Given the description of an element on the screen output the (x, y) to click on. 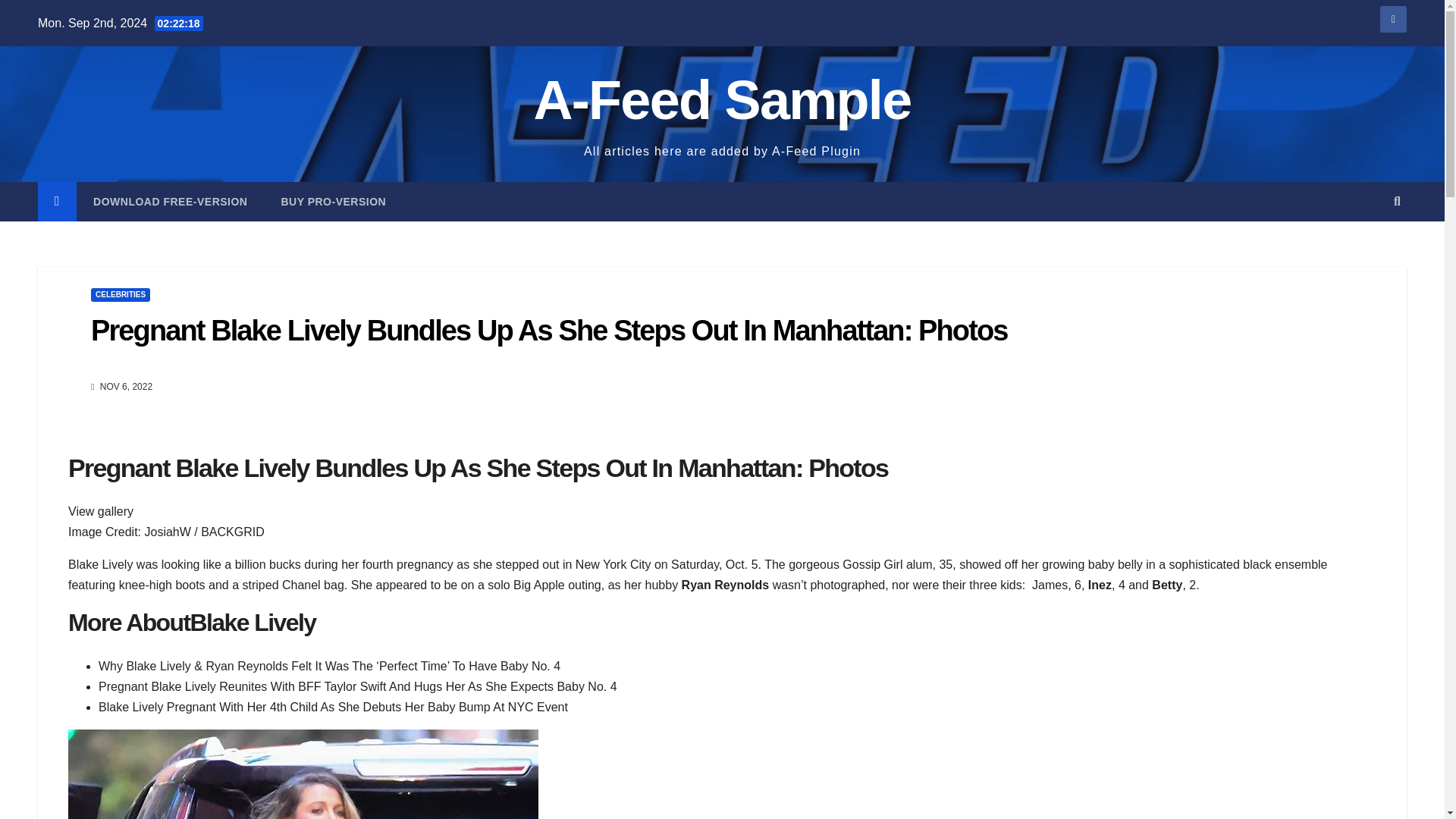
DOWNLOAD FREE-VERSION (170, 201)
CELEBRITIES (119, 295)
Download FREE-version (170, 201)
BUY PRO-VERSION (333, 201)
Buy PRO-version (333, 201)
A-Feed Sample (721, 99)
